Given the description of an element on the screen output the (x, y) to click on. 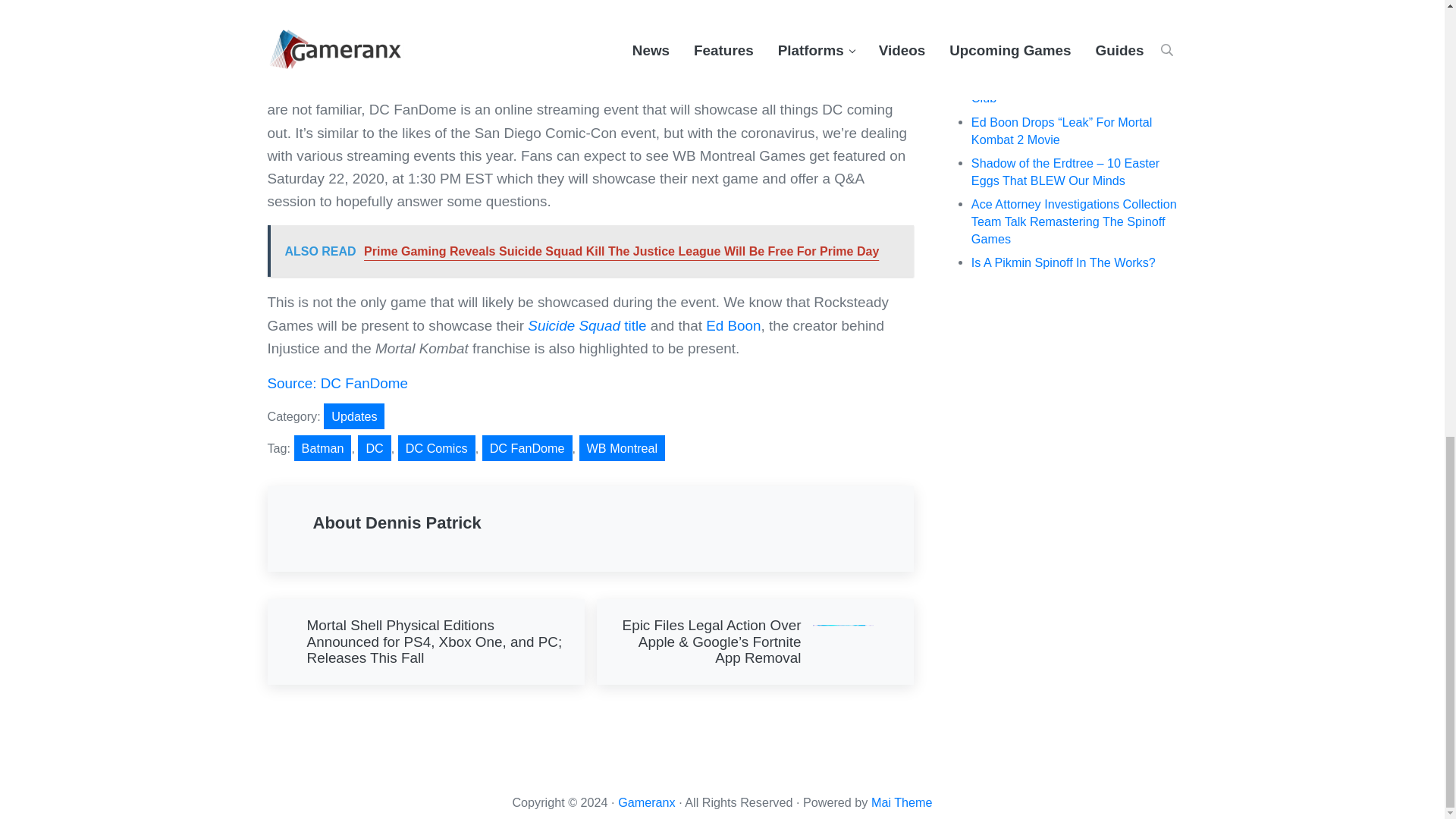
Ed Boon (733, 325)
Suicide Squad title (586, 325)
DC FanDome (526, 447)
DC (374, 447)
Updates (353, 416)
DC Comics (436, 447)
WB Montreal (622, 447)
